Given the description of an element on the screen output the (x, y) to click on. 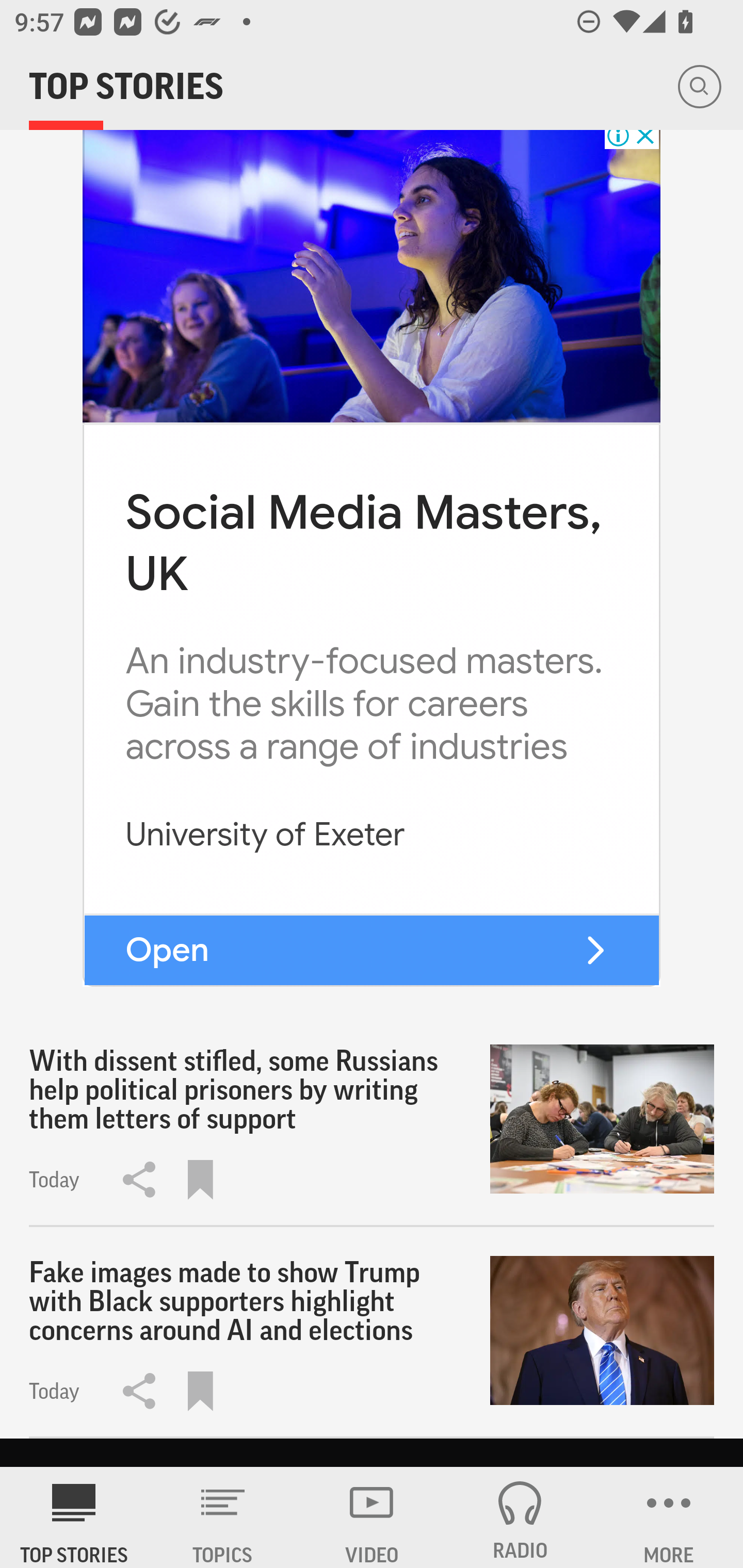
Social Media Masters, UK Social Media Masters, UK (363, 543)
University of Exeter (264, 834)
Open (167, 949)
AP News TOP STORIES (74, 1517)
TOPICS (222, 1517)
VIDEO (371, 1517)
RADIO (519, 1517)
MORE (668, 1517)
